Given the description of an element on the screen output the (x, y) to click on. 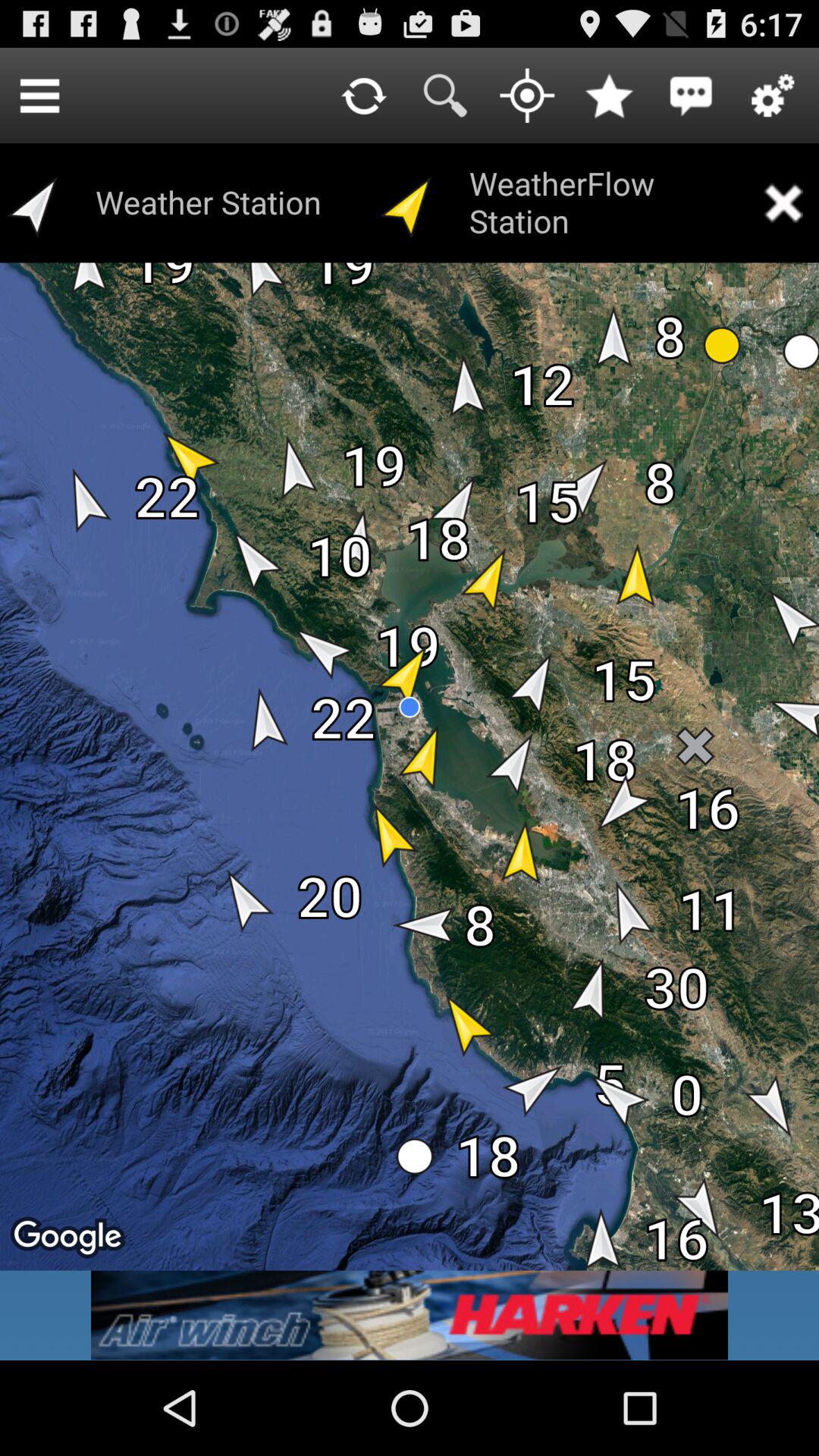
current location (527, 95)
